Given the description of an element on the screen output the (x, y) to click on. 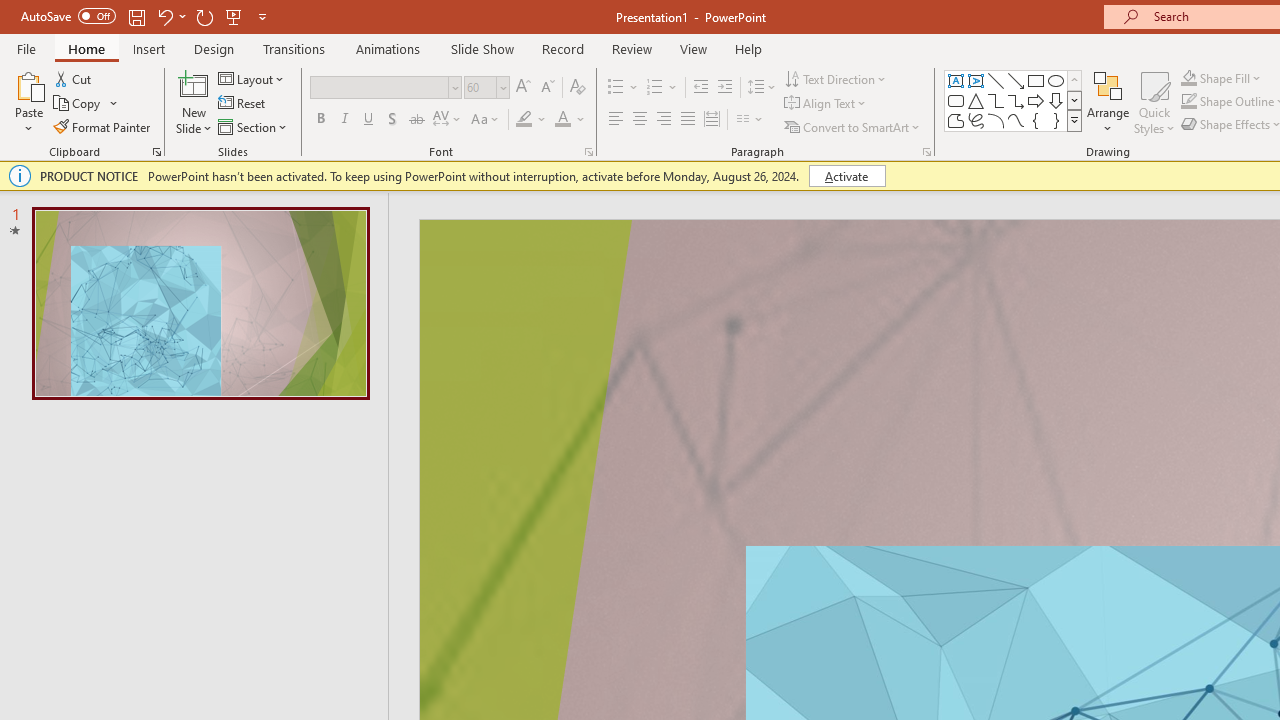
Shape Outline Dark Red, Accent 1 (1188, 101)
Shape Fill Orange, Accent 2 (1188, 78)
